Given the description of an element on the screen output the (x, y) to click on. 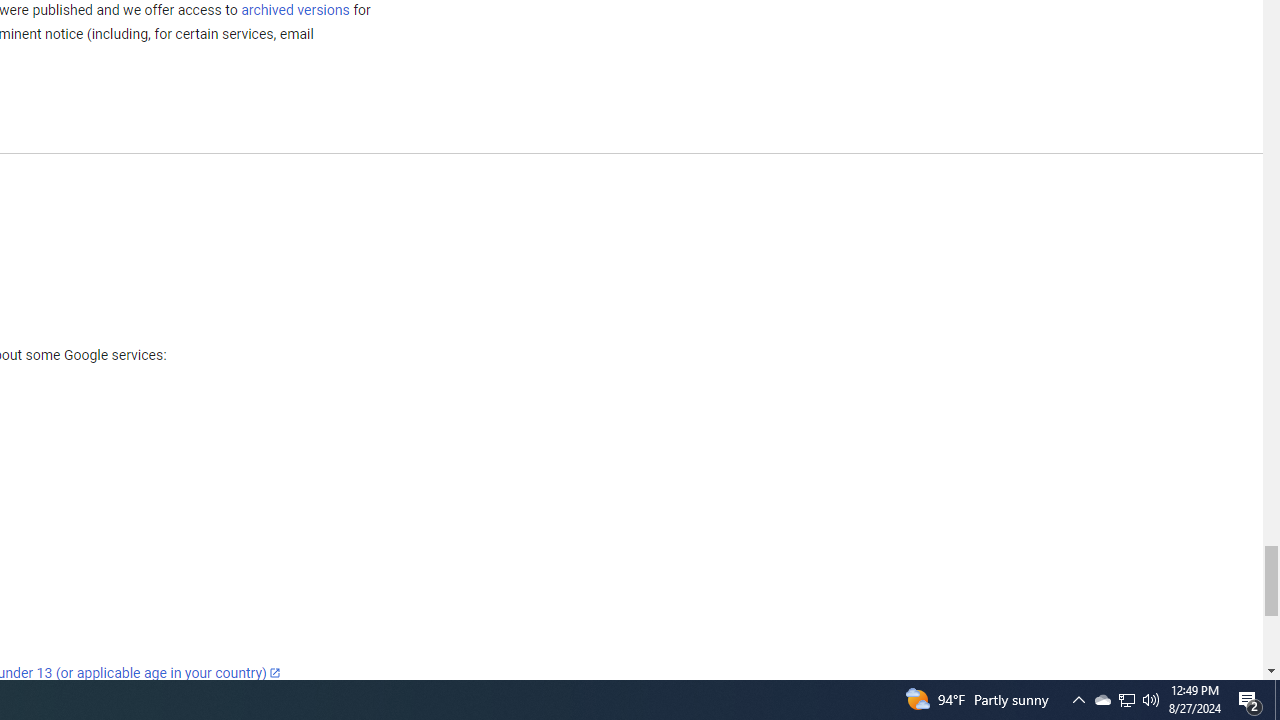
archived versions (294, 9)
